Given the description of an element on the screen output the (x, y) to click on. 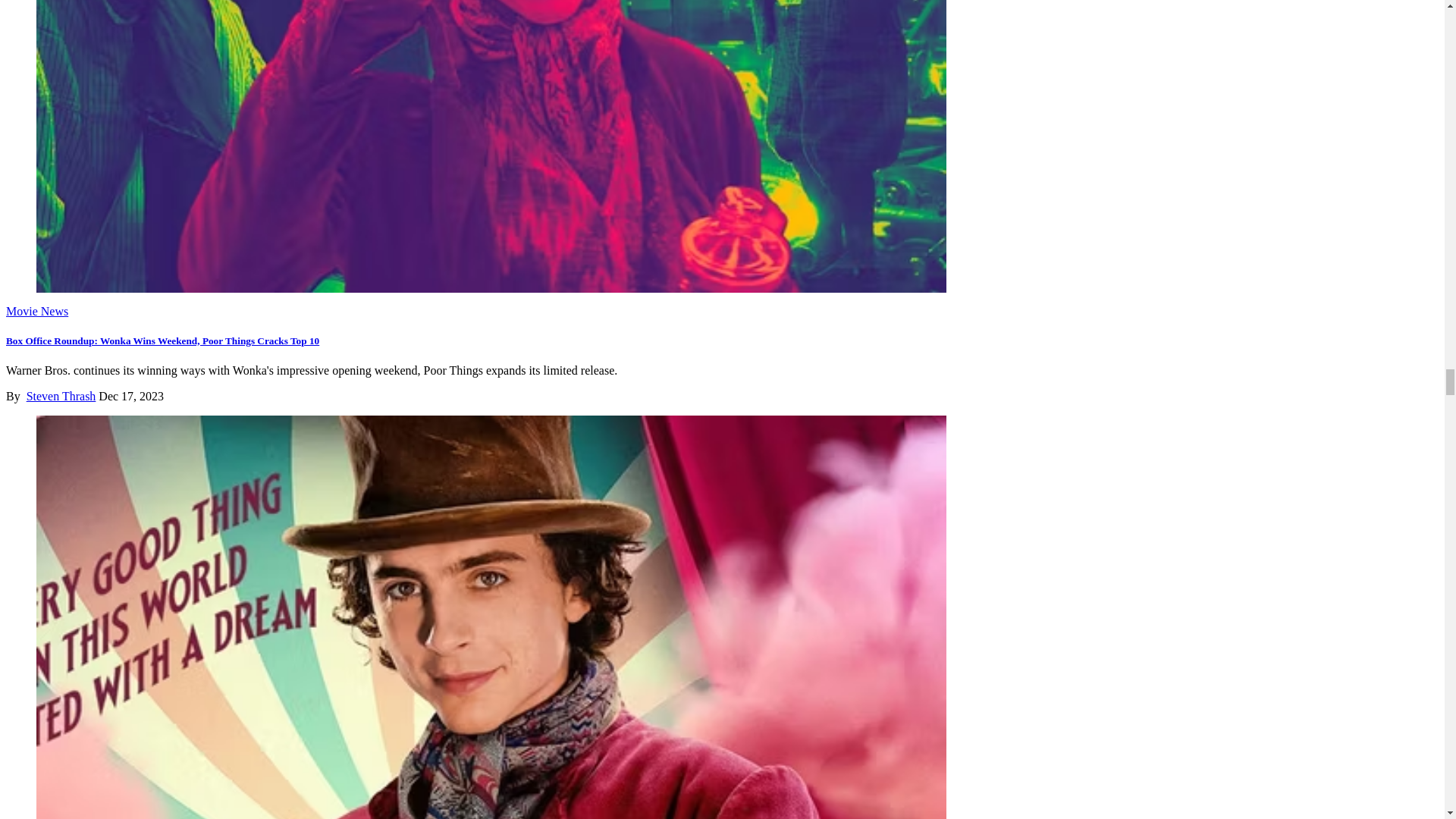
Posts by Steven Thrash (61, 395)
